Given the description of an element on the screen output the (x, y) to click on. 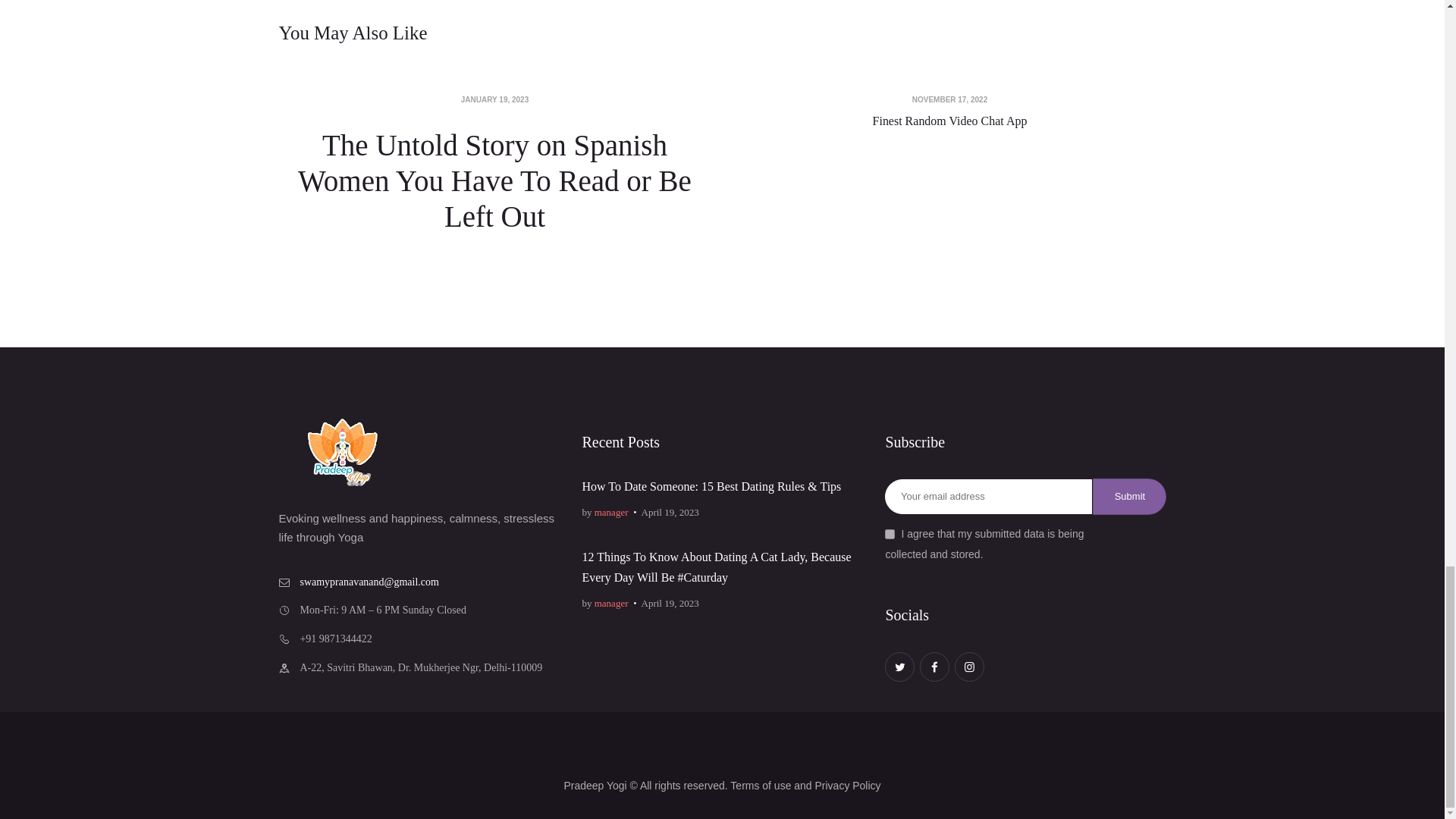
1 (890, 533)
Submit (1129, 496)
